Given the description of an element on the screen output the (x, y) to click on. 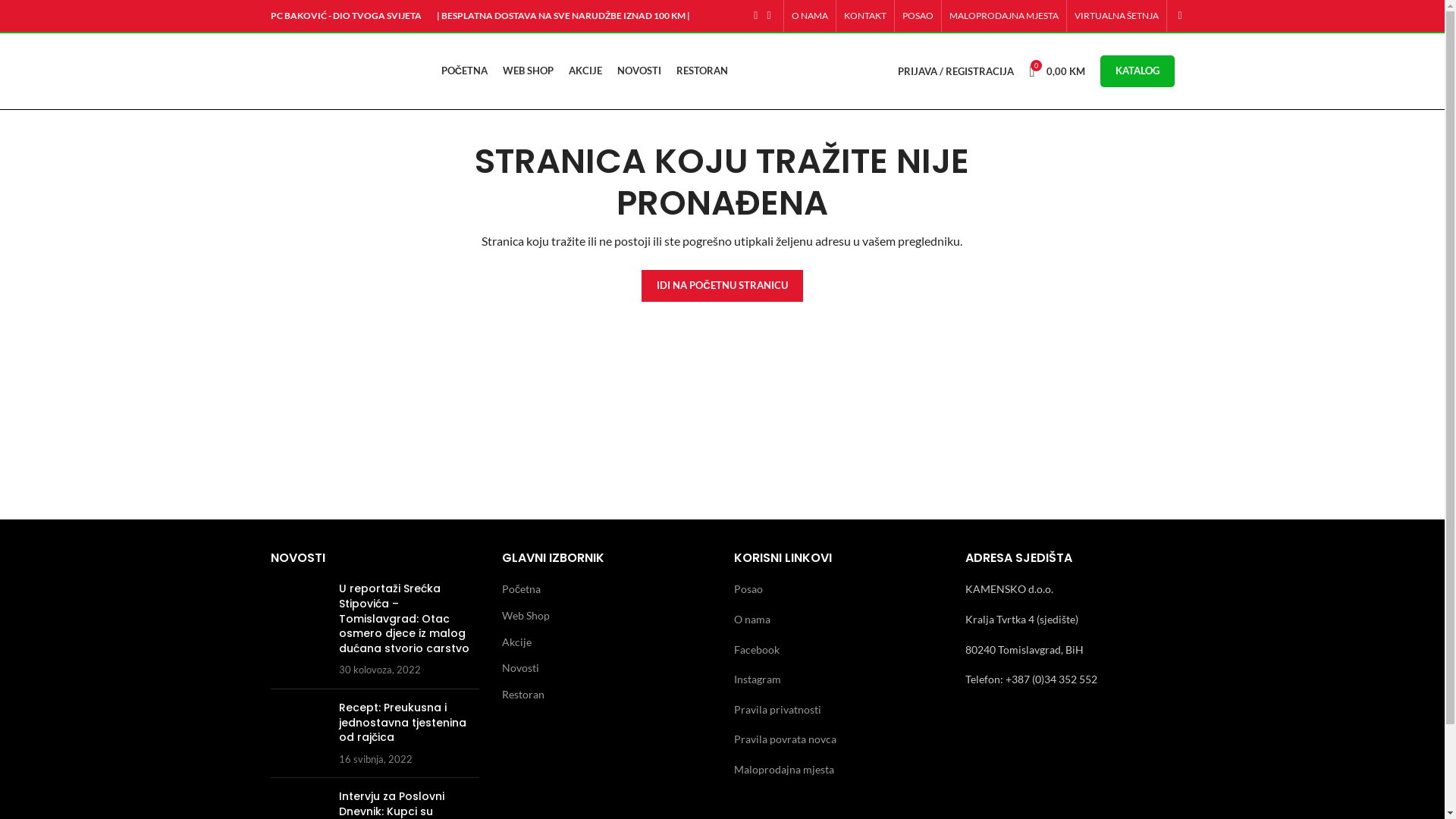
Pravila povrata novca Element type: text (785, 738)
POSAO Element type: text (917, 15)
MALOPRODAJNA MJESTA Element type: text (1003, 15)
RESTORAN Element type: text (702, 71)
Web Shop Element type: text (526, 615)
AKCIJE Element type: text (585, 71)
O NAMA Element type: text (809, 15)
Instagram Element type: text (757, 678)
Novosti Element type: text (521, 667)
Pravila privatnosti Element type: text (777, 708)
Search Element type: hover (1173, 15)
NOVOSTI Element type: text (639, 71)
KATALOG Element type: text (1136, 71)
WEB SHOP Element type: text (527, 71)
PRIJAVA / REGISTRACIJA Element type: text (955, 71)
Facebook Element type: text (756, 649)
0
0,00 KM Element type: text (1056, 71)
KONTAKT Element type: text (864, 15)
Maloprodajna mjesta Element type: text (784, 768)
Posao Element type: text (748, 588)
O nama Element type: text (752, 618)
Akcije Element type: text (517, 641)
Restoran Element type: text (524, 694)
